Given the description of an element on the screen output the (x, y) to click on. 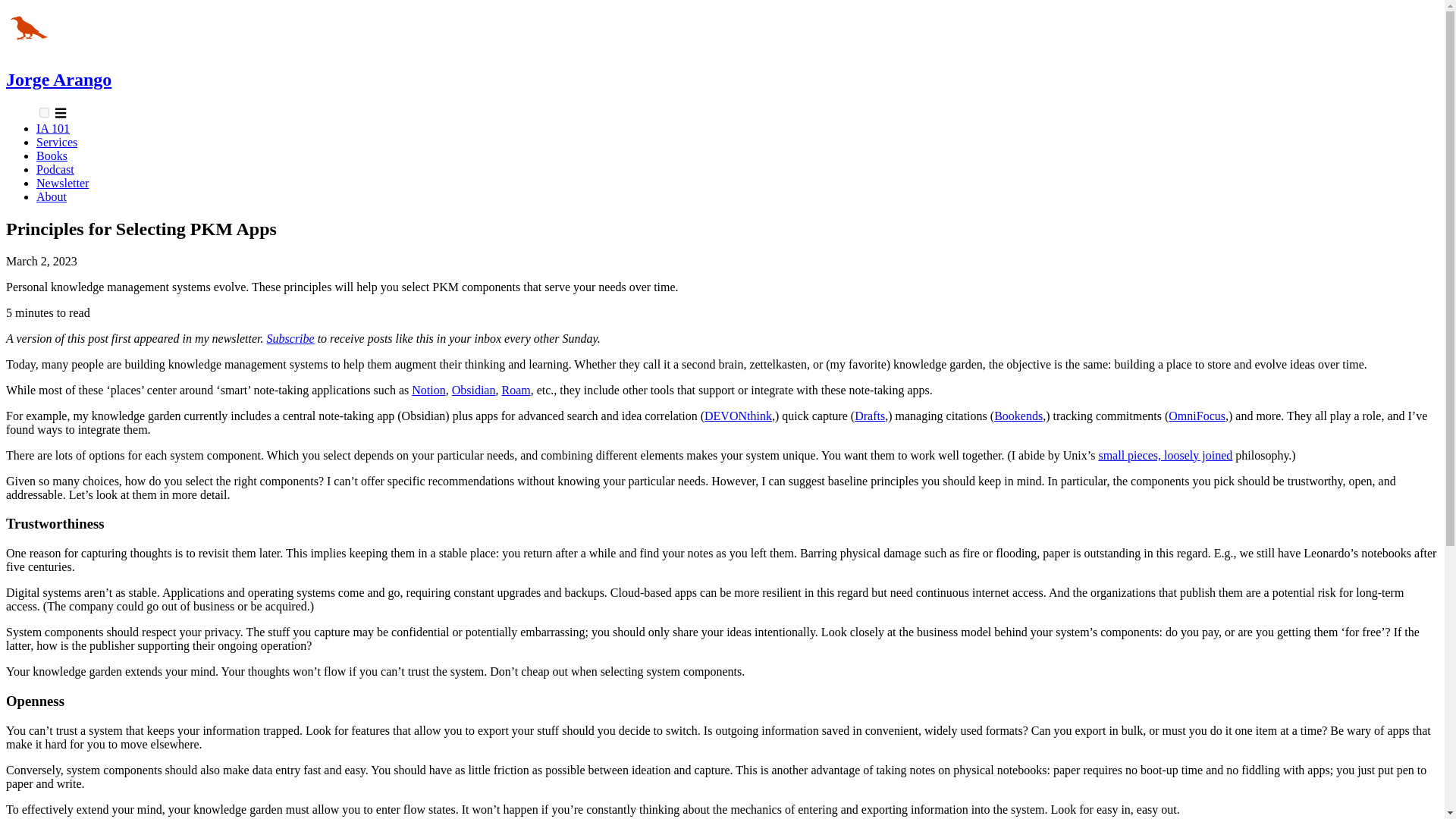
About (51, 196)
Roam (514, 390)
Obsidian (473, 390)
Books (51, 155)
IA 101 (52, 128)
on (44, 112)
Bookends (1018, 415)
Notion (428, 390)
Services (56, 141)
Newsletter (62, 182)
